Given the description of an element on the screen output the (x, y) to click on. 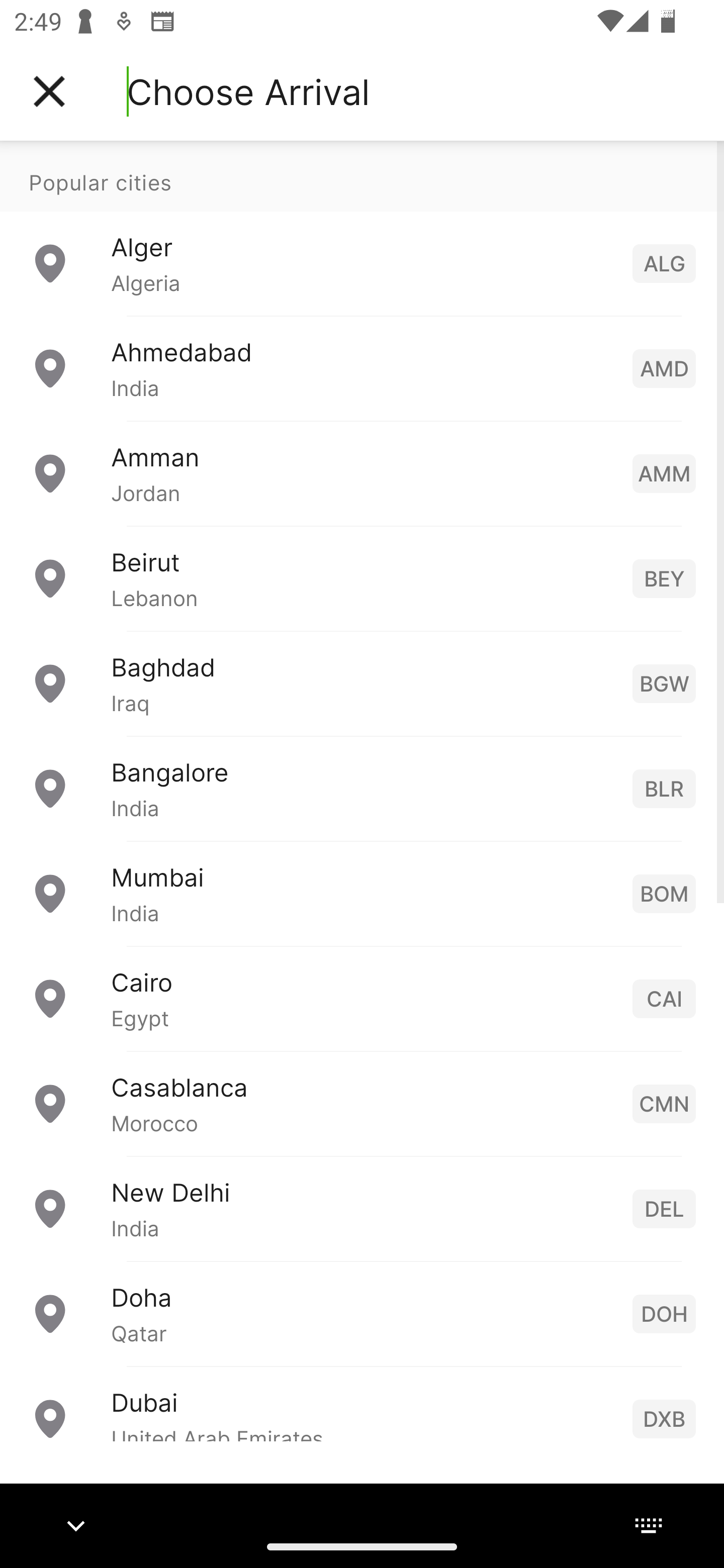
Choose Arrival (247, 91)
Popular cities Alger Algeria ALG (362, 228)
Popular cities (362, 176)
Ahmedabad India AMD (362, 367)
Amman Jordan AMM (362, 472)
Beirut Lebanon BEY (362, 577)
Baghdad Iraq BGW (362, 682)
Bangalore India BLR (362, 787)
Mumbai India BOM (362, 892)
Cairo Egypt CAI (362, 997)
Casablanca Morocco CMN (362, 1102)
New Delhi India DEL (362, 1207)
Doha Qatar DOH (362, 1312)
Dubai United Arab Emirates DXB (362, 1402)
